Given the description of an element on the screen output the (x, y) to click on. 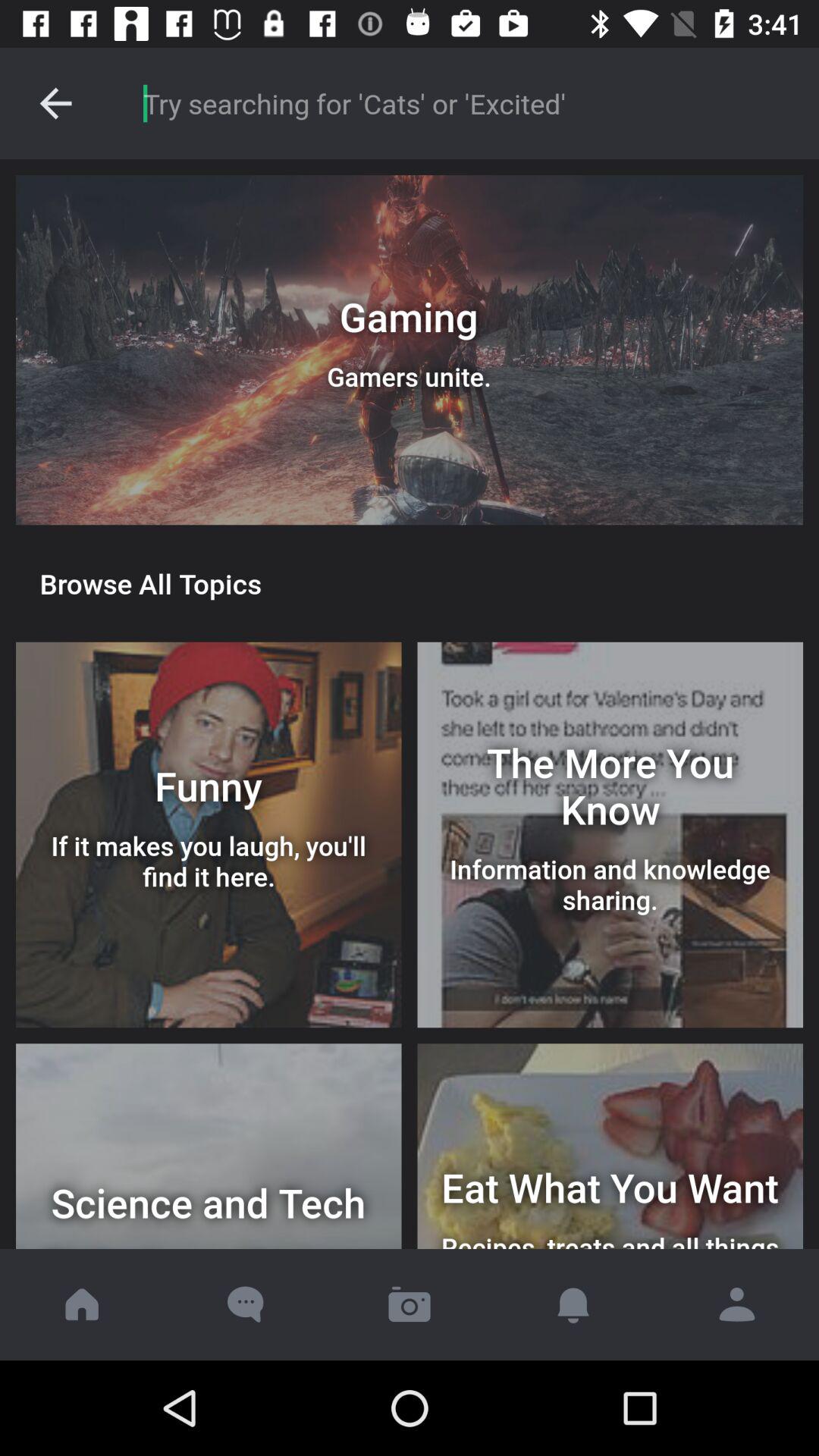
launch the item below the science and tech item (409, 1304)
